Given the description of an element on the screen output the (x, y) to click on. 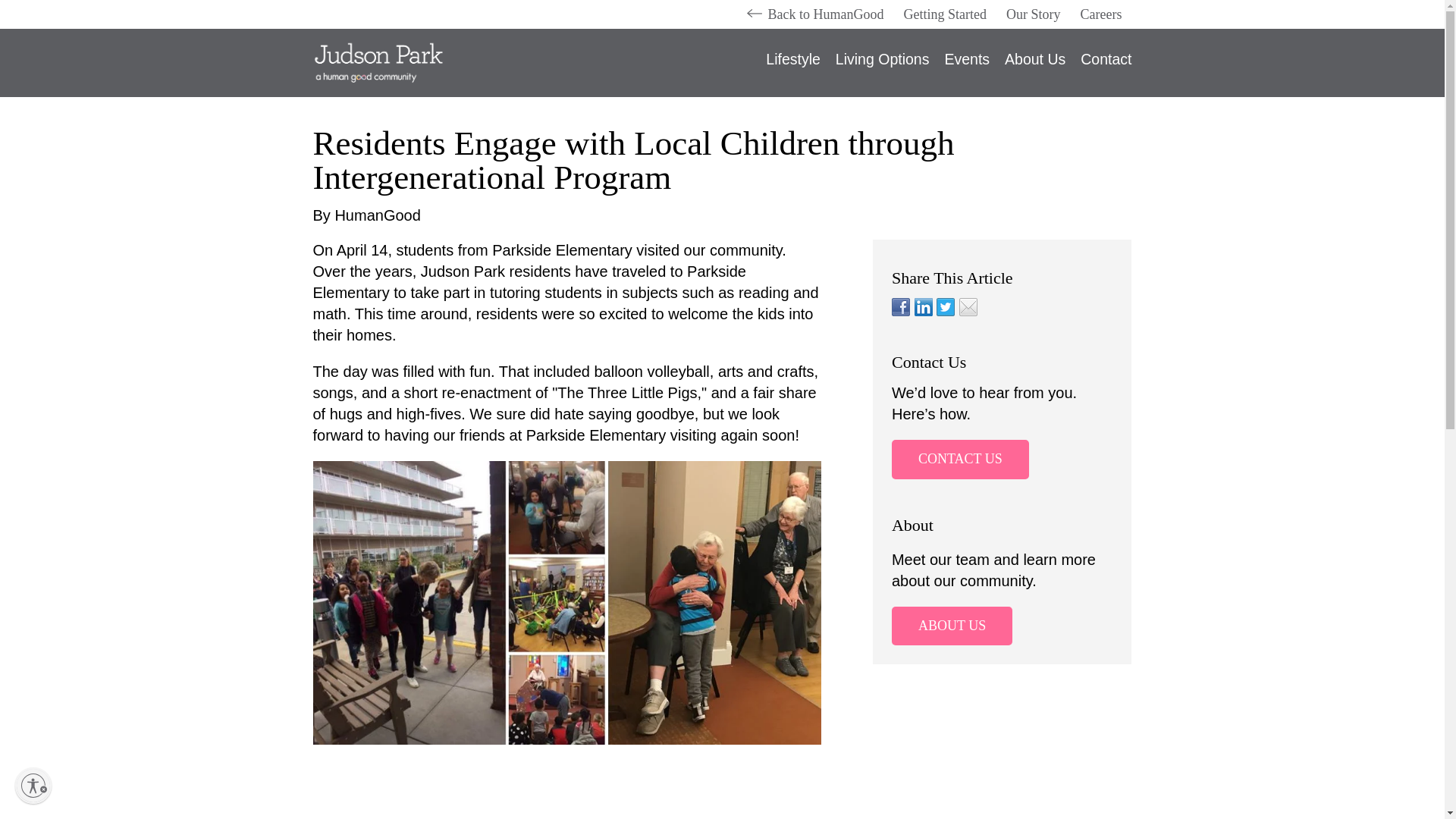
Careers (1101, 14)
Judson Park a human good community (432, 62)
Living Options (882, 63)
CONTACT US (960, 459)
Back to HumanGood (825, 14)
Getting Started (944, 14)
ABOUT US (951, 626)
Lifestyle (793, 63)
About Us (1035, 63)
Our Story (1032, 14)
